Given the description of an element on the screen output the (x, y) to click on. 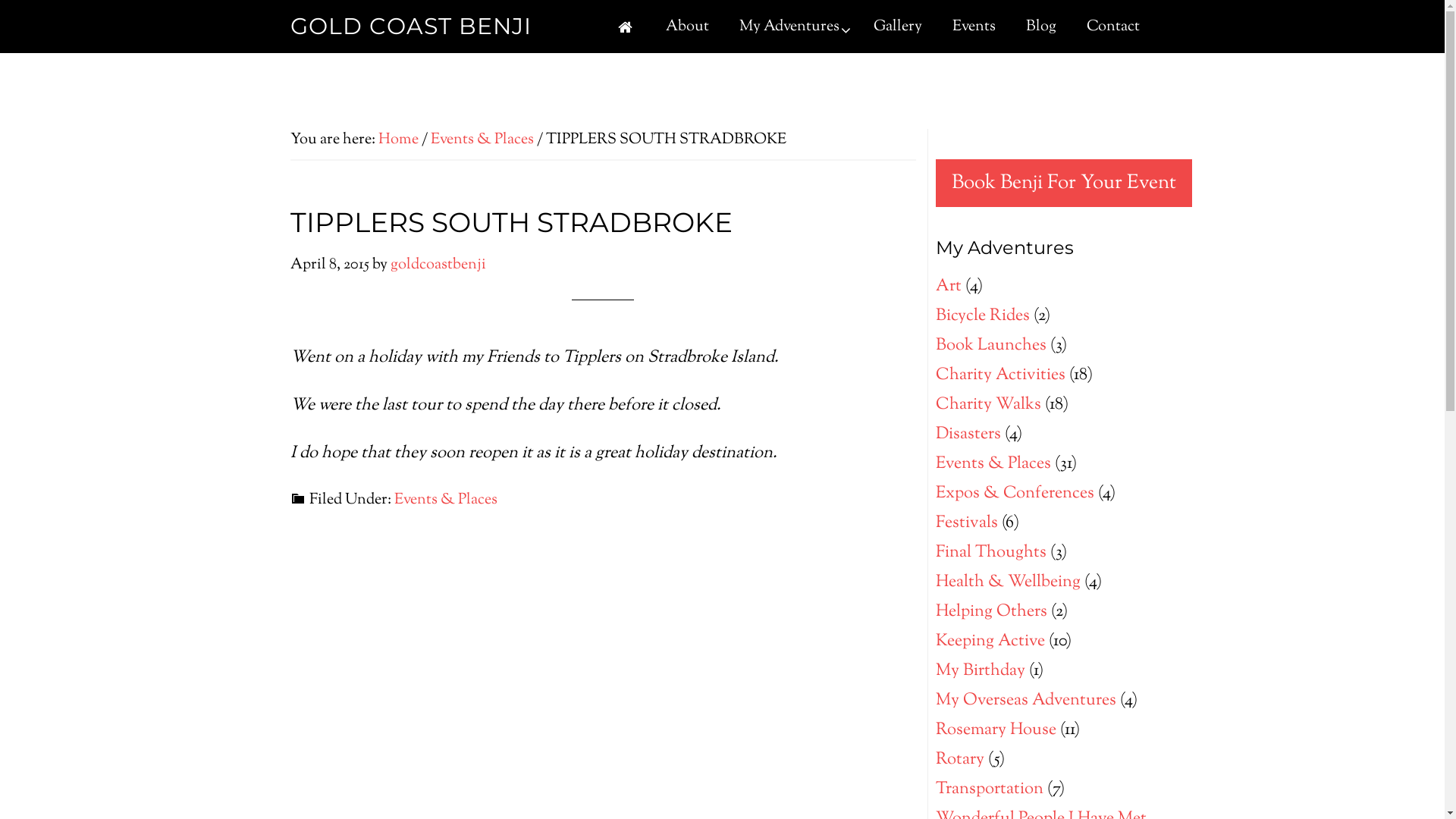
Contact Element type: text (1112, 27)
Expos & Conferences Element type: text (1014, 493)
Charity Walks Element type: text (988, 404)
Rotary Element type: text (959, 759)
Art Element type: text (948, 286)
Final Thoughts Element type: text (990, 552)
Transportation Element type: text (989, 789)
My Birthday Element type: text (980, 670)
GOLD COAST BENJI Element type: text (409, 26)
Rosemary House Element type: text (995, 730)
Events Element type: text (973, 27)
About Element type: text (687, 27)
Disasters Element type: text (968, 434)
Helping Others Element type: text (991, 611)
Bicycle Rides Element type: text (982, 316)
Gallery Element type: text (897, 27)
My Overseas Adventures Element type: text (1025, 700)
Home Element type: text (397, 139)
Blog Element type: text (1040, 27)
Festivals Element type: text (966, 523)
goldcoastbenji Element type: text (437, 265)
My Adventures Element type: text (790, 27)
Events & Places Element type: text (993, 463)
Health & Wellbeing Element type: text (1007, 582)
Charity Activities Element type: text (1000, 375)
Events & Places Element type: text (445, 500)
Book Benji For Your Event Element type: text (1063, 183)
Keeping Active Element type: text (989, 641)
Events & Places Element type: text (481, 139)
Book Launches Element type: text (990, 345)
